Given the description of an element on the screen output the (x, y) to click on. 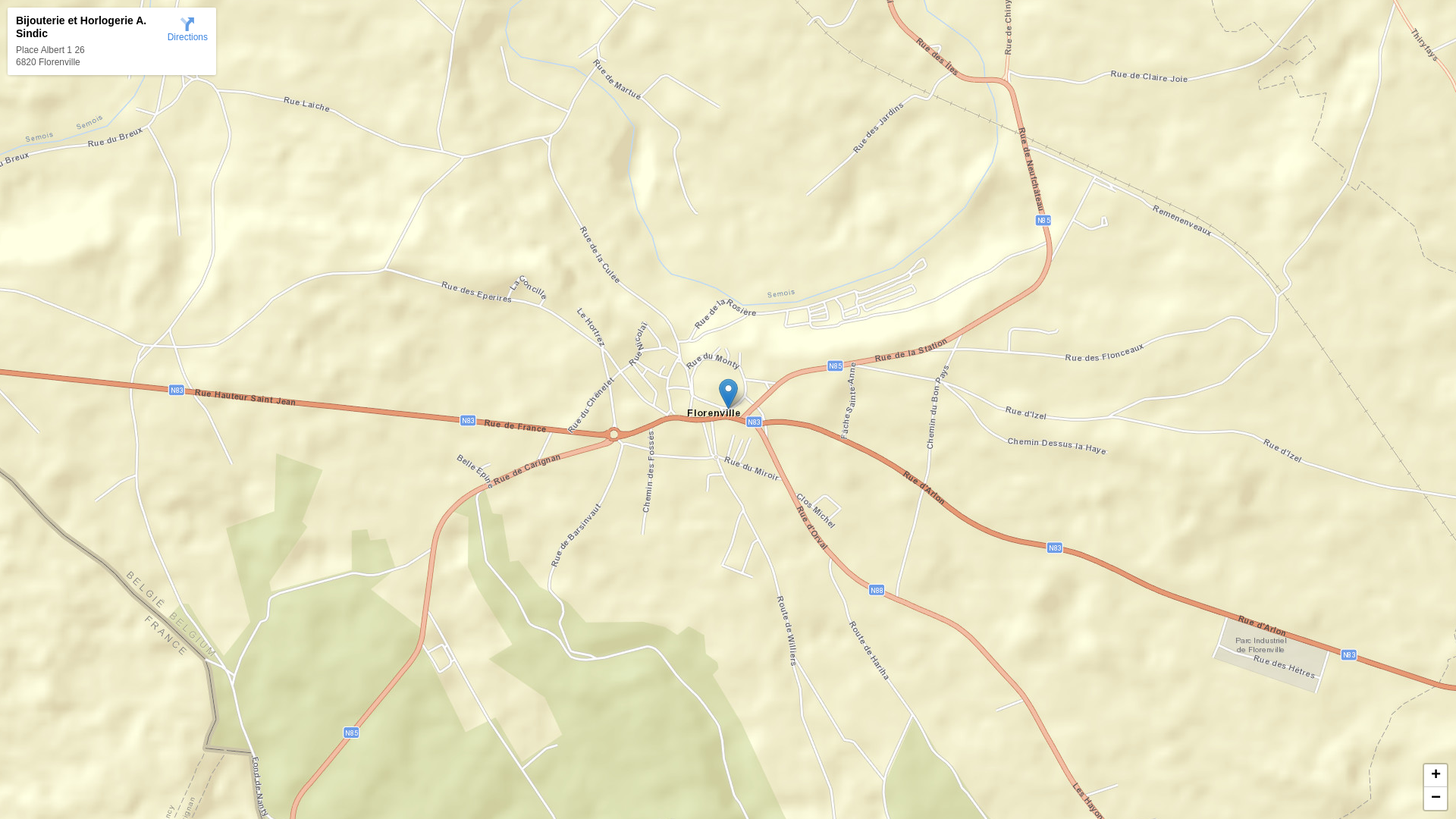
+ Element type: text (1435, 775)
Directions Element type: text (187, 28)
